Given the description of an element on the screen output the (x, y) to click on. 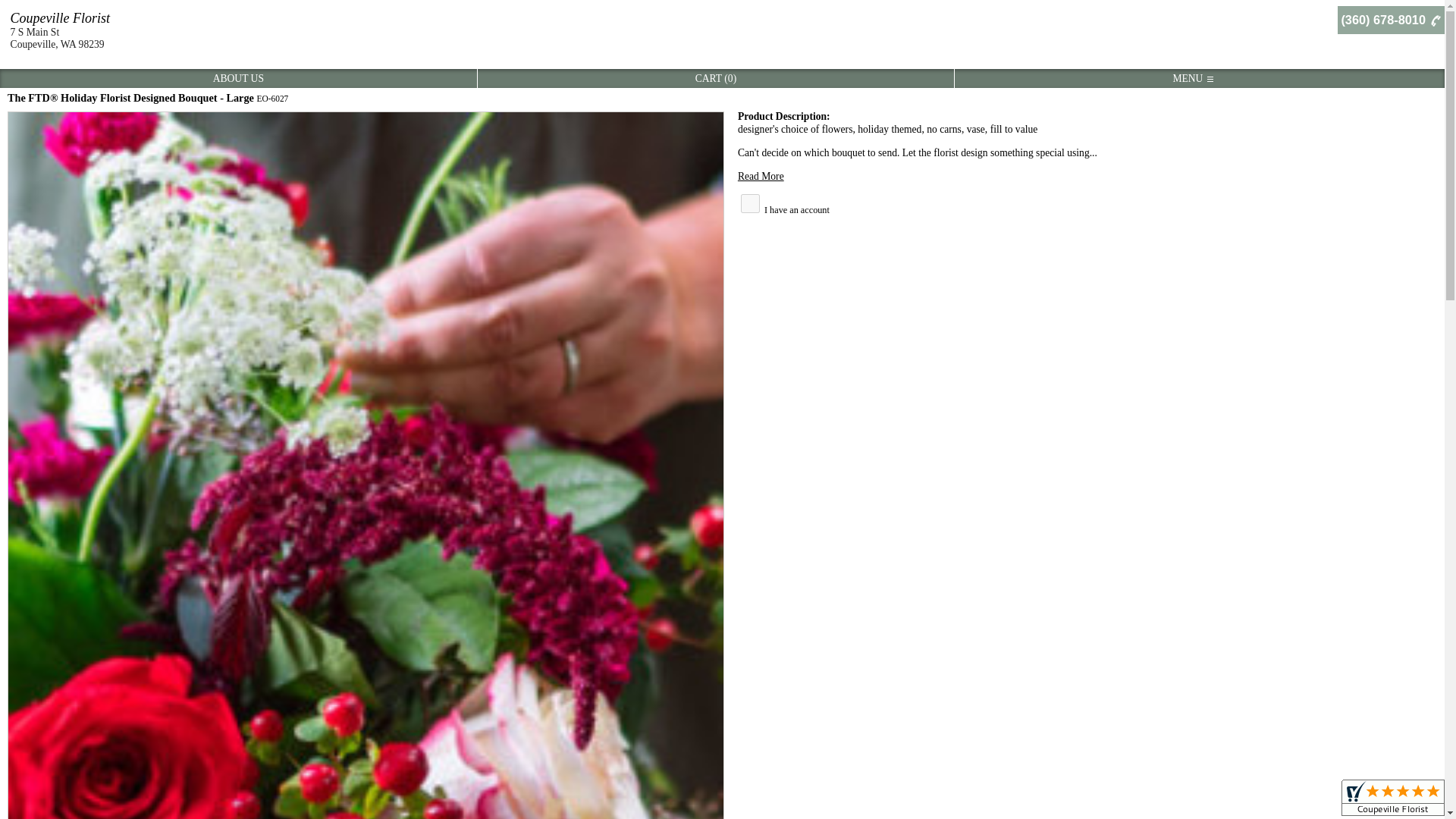
MENU (1192, 78)
Read More (761, 174)
Coupeville Florist (60, 18)
ABOUT US (237, 78)
Y (750, 203)
